Given the description of an element on the screen output the (x, y) to click on. 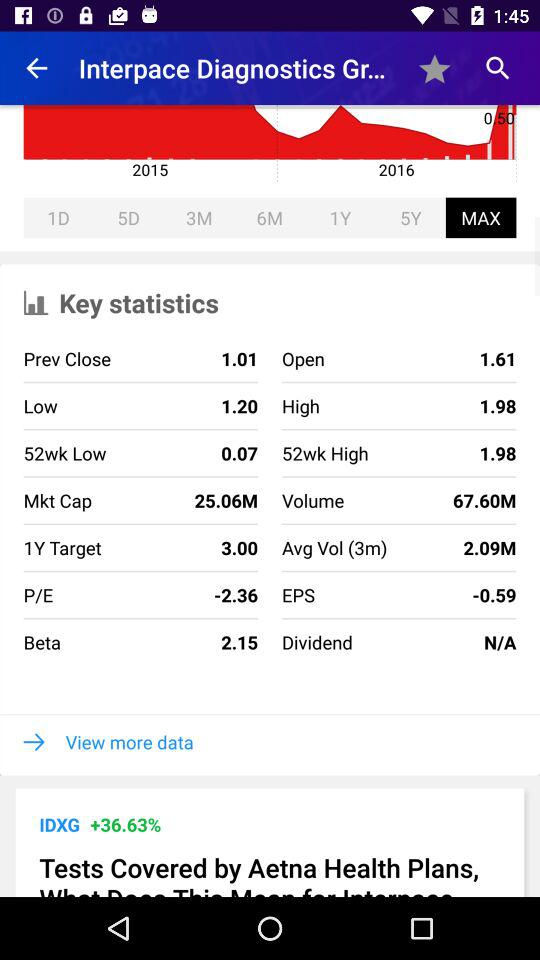
scroll until the idxg icon (59, 824)
